Given the description of an element on the screen output the (x, y) to click on. 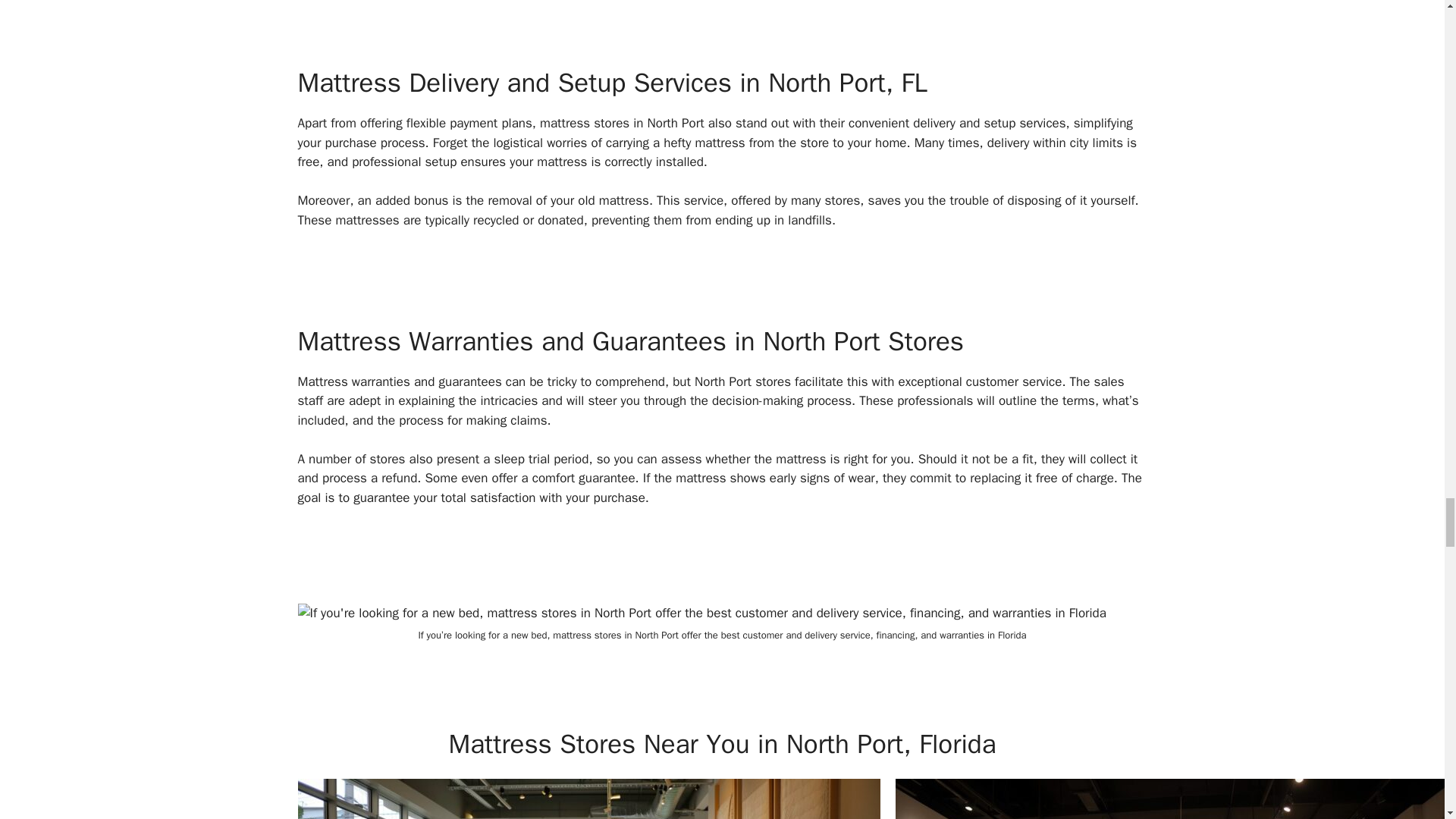
Mattress Stores in Port Charlotte, FL (1175, 798)
Mattress Stores in Murdock, FL (588, 798)
